Given the description of an element on the screen output the (x, y) to click on. 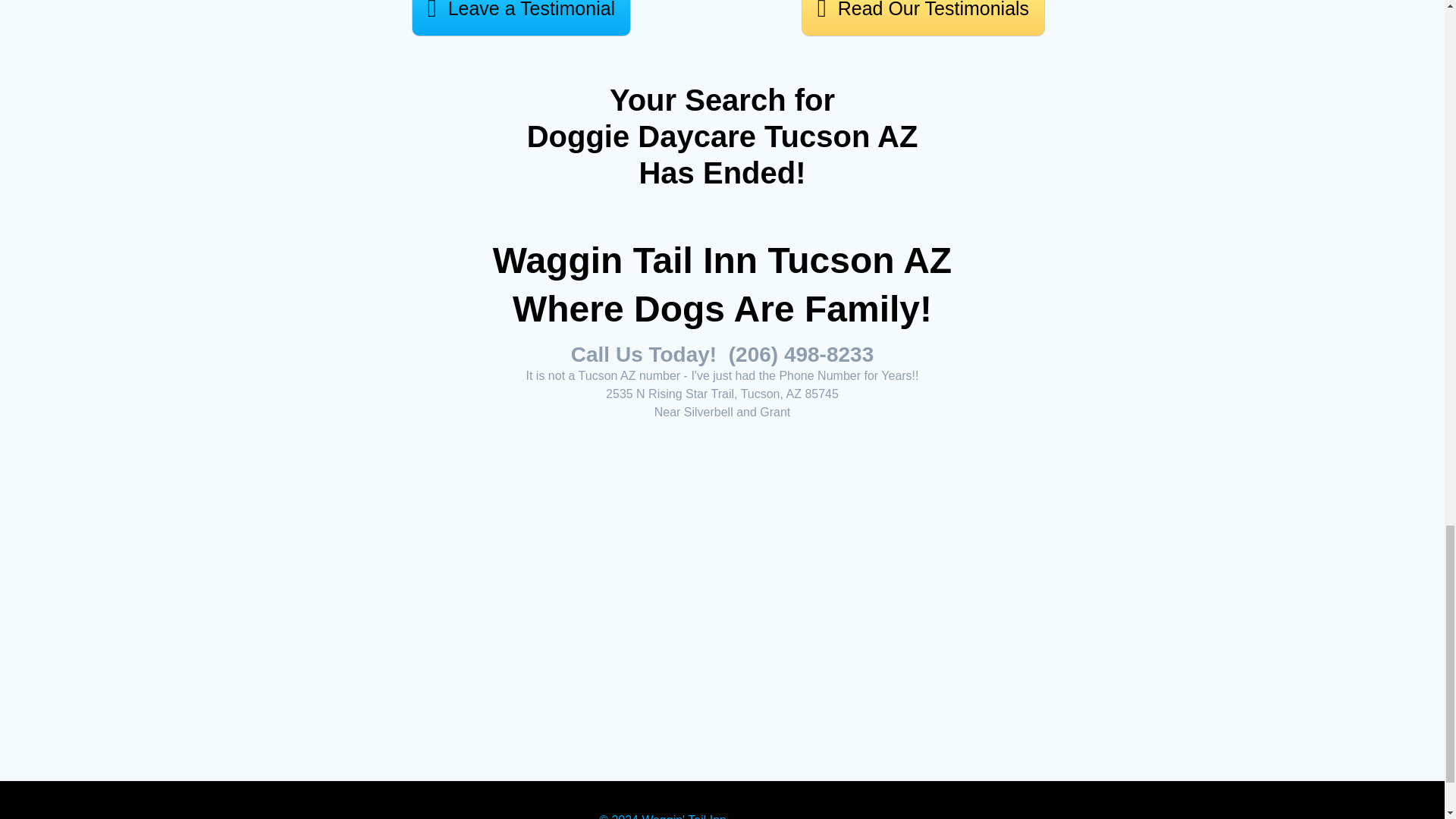
Read Our Testimonials (923, 18)
cropped-Waggin-Tail-with-Text-Light.png (721, 560)
Leave a Testimonial (521, 18)
